Given the description of an element on the screen output the (x, y) to click on. 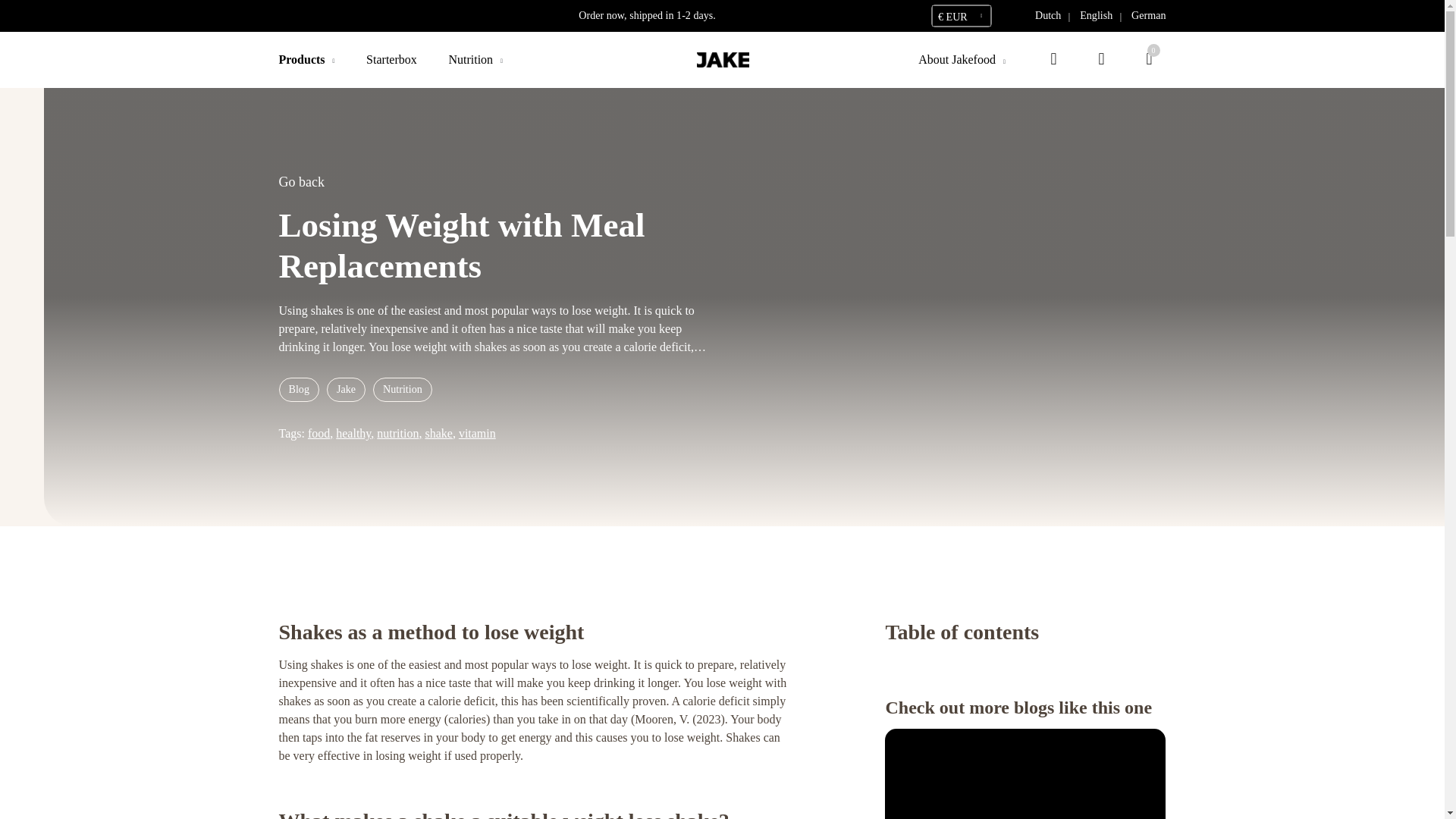
German (1148, 14)
About Jakefood (956, 59)
English (1096, 14)
Nutrition (470, 59)
Products (301, 59)
English (1096, 14)
Dutch (1047, 14)
Dutch (1047, 14)
Starterbox (391, 59)
German (1148, 14)
